Given the description of an element on the screen output the (x, y) to click on. 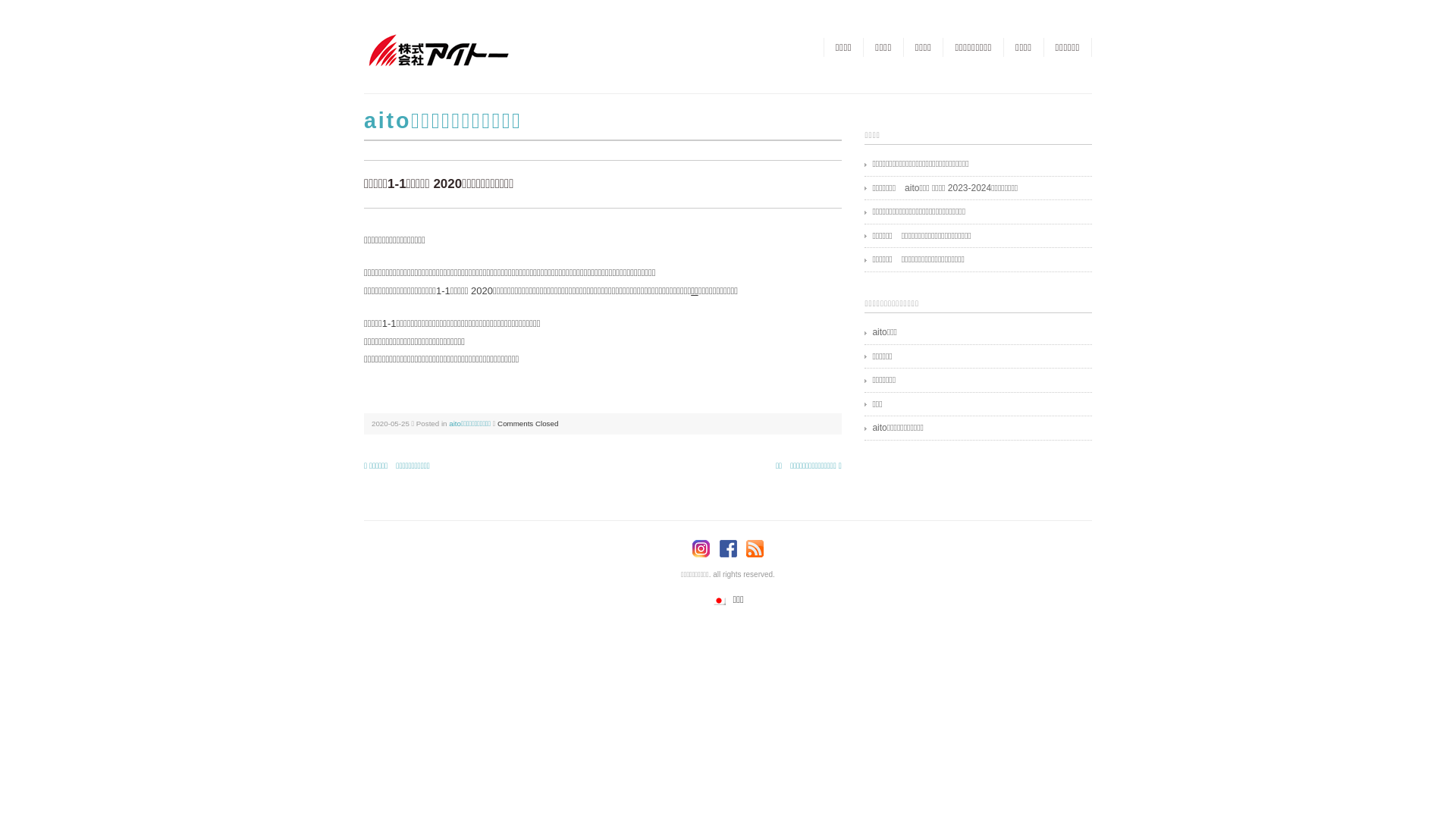
RSS Feed Element type: hover (754, 548)
instagram Element type: hover (704, 548)
Facebook Element type: hover (730, 548)
